Given the description of an element on the screen output the (x, y) to click on. 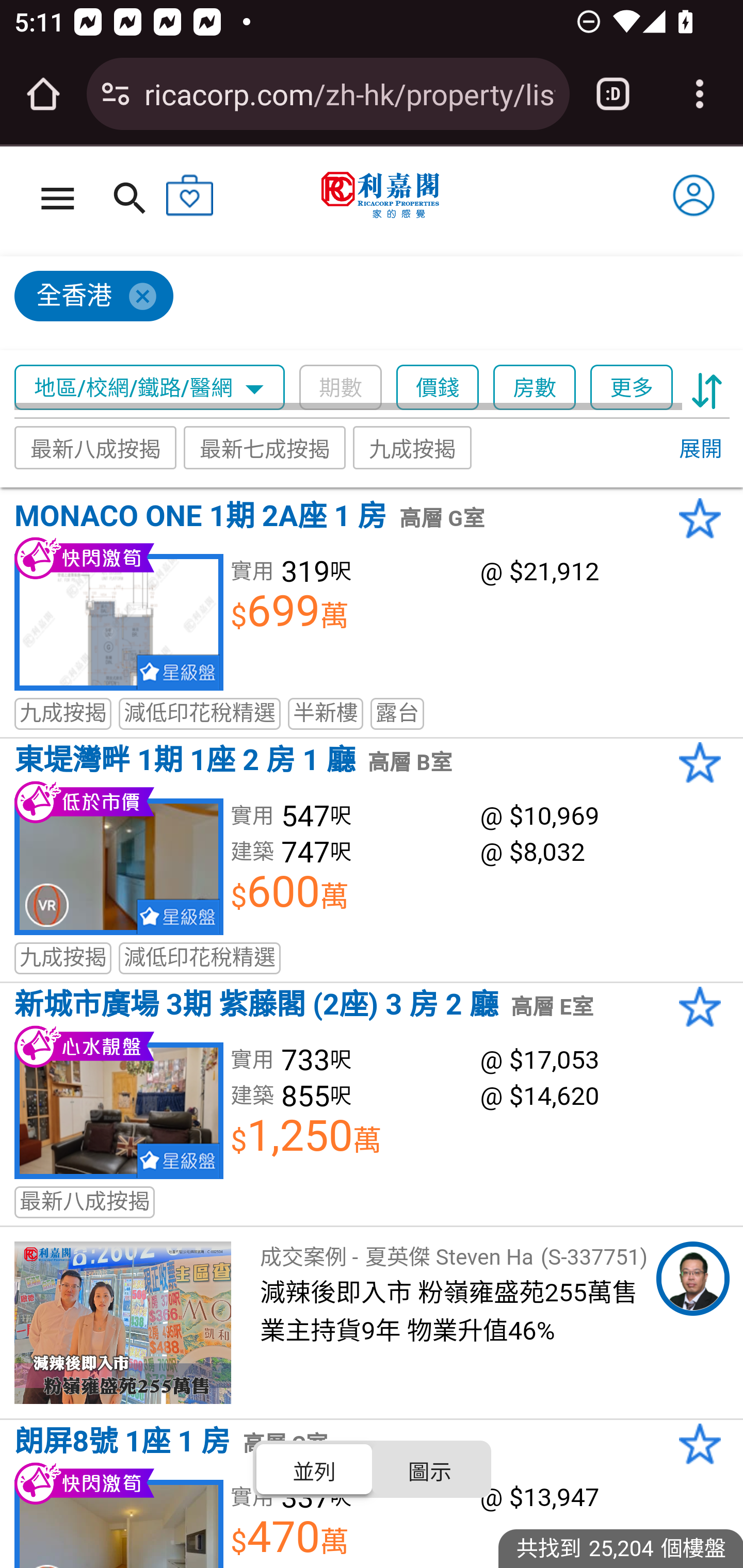
Open the home page (43, 93)
Connection is secure (115, 93)
Switch or close tabs (612, 93)
Customize and control Google Chrome (699, 93)
ricacorp.com/zh-hk/property/list/buy (349, 92)
全香港 (363, 304)
地區/校網/鐵路/醫網 (149, 387)
期數 (339, 387)
價錢 (437, 387)
房數 (535, 387)
更多 (630, 387)
sort (706, 387)
最新八成按揭 (96, 446)
最新七成按揭 (264, 446)
九成按揭 (412, 446)
並列 (314, 1468)
圖示 (429, 1468)
